Given the description of an element on the screen output the (x, y) to click on. 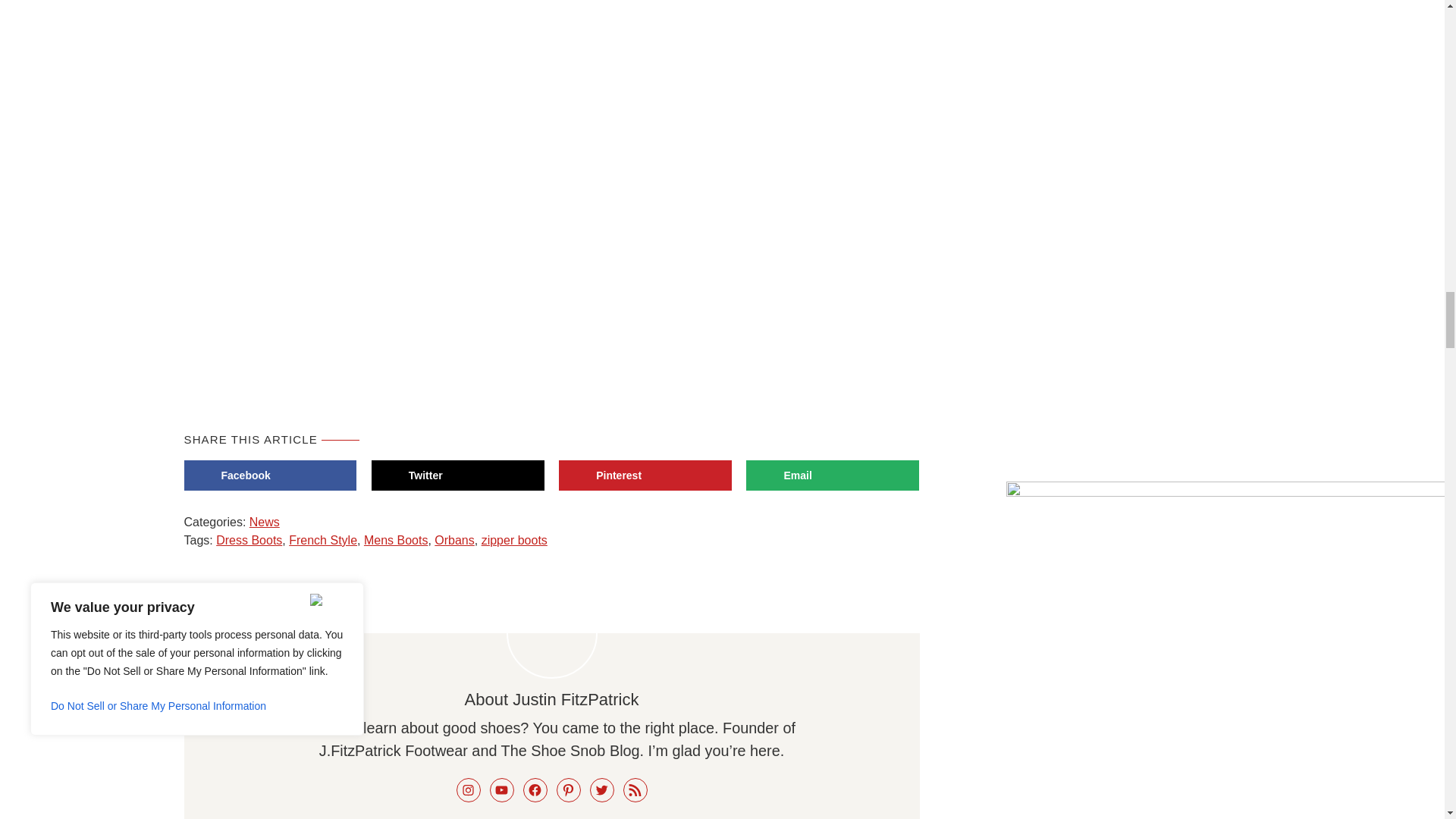
Save to Pinterest (645, 475)
Share on Facebook (269, 475)
Send over email (831, 475)
Share on X (457, 475)
